Given the description of an element on the screen output the (x, y) to click on. 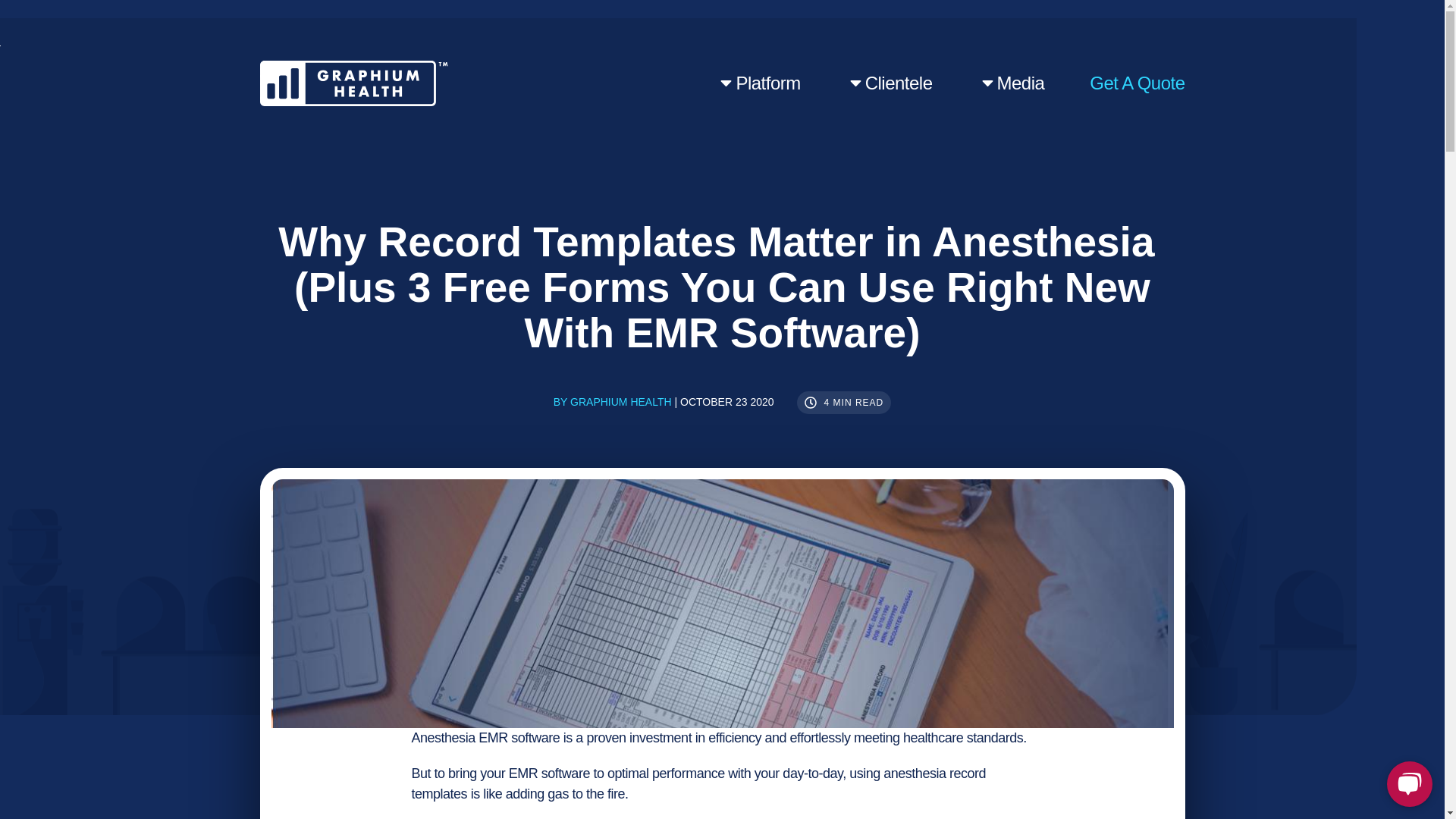
Platform (757, 82)
Posts by Graphium Health (620, 402)
Media (1011, 82)
Get A Quote (1137, 82)
GRAPHIUM HEALTH (620, 402)
Clientele (889, 82)
OCTOBER (705, 402)
